Given the description of an element on the screen output the (x, y) to click on. 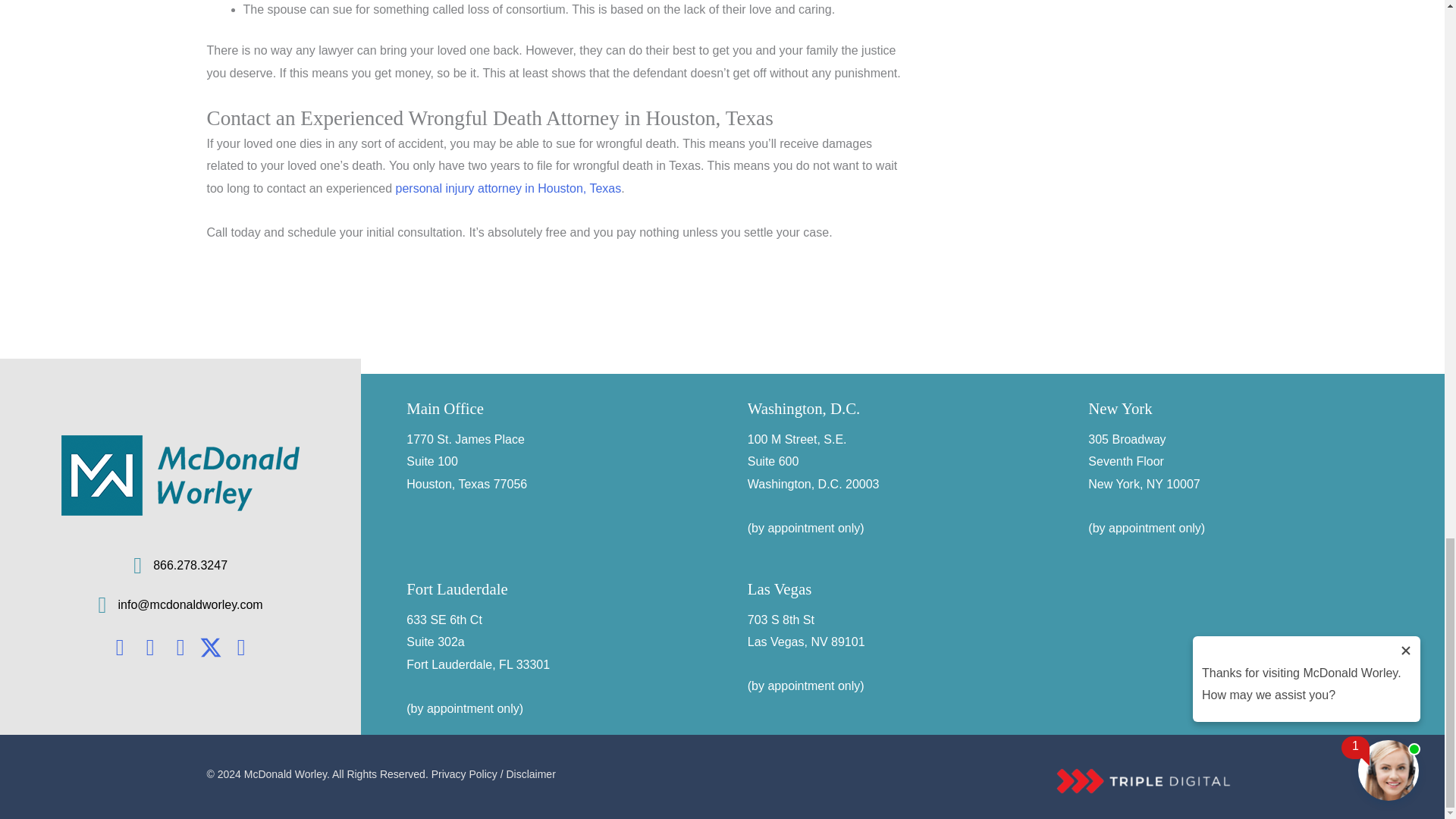
Facebook (119, 647)
LinkedIn (149, 647)
